Given the description of an element on the screen output the (x, y) to click on. 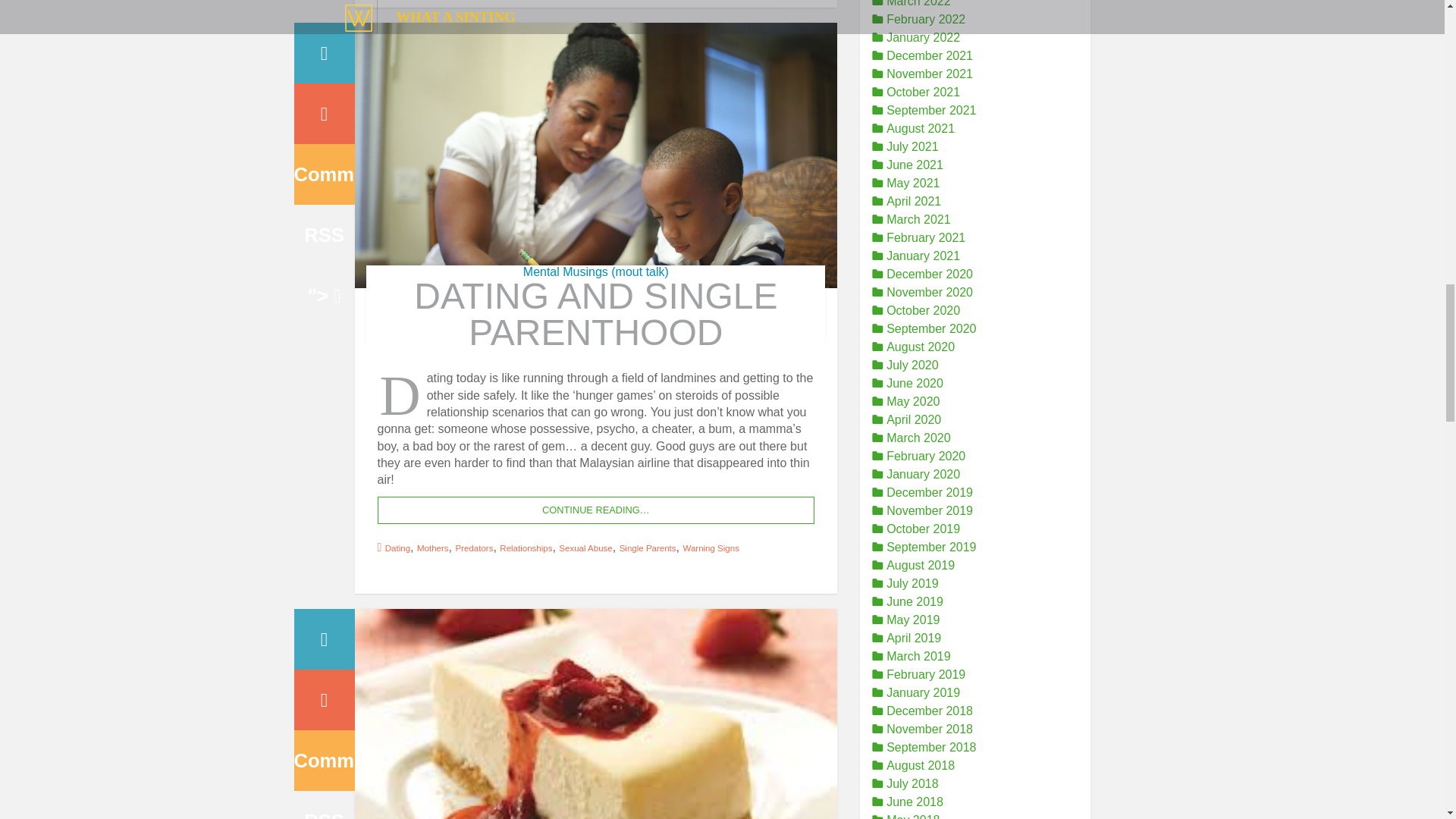
DATING AND SINGLE PARENTHOOD (595, 314)
Nicola A. Cunningham (324, 113)
Sunday, March 23rd, 2014 (324, 52)
Follow this article (324, 174)
